Given the description of an element on the screen output the (x, y) to click on. 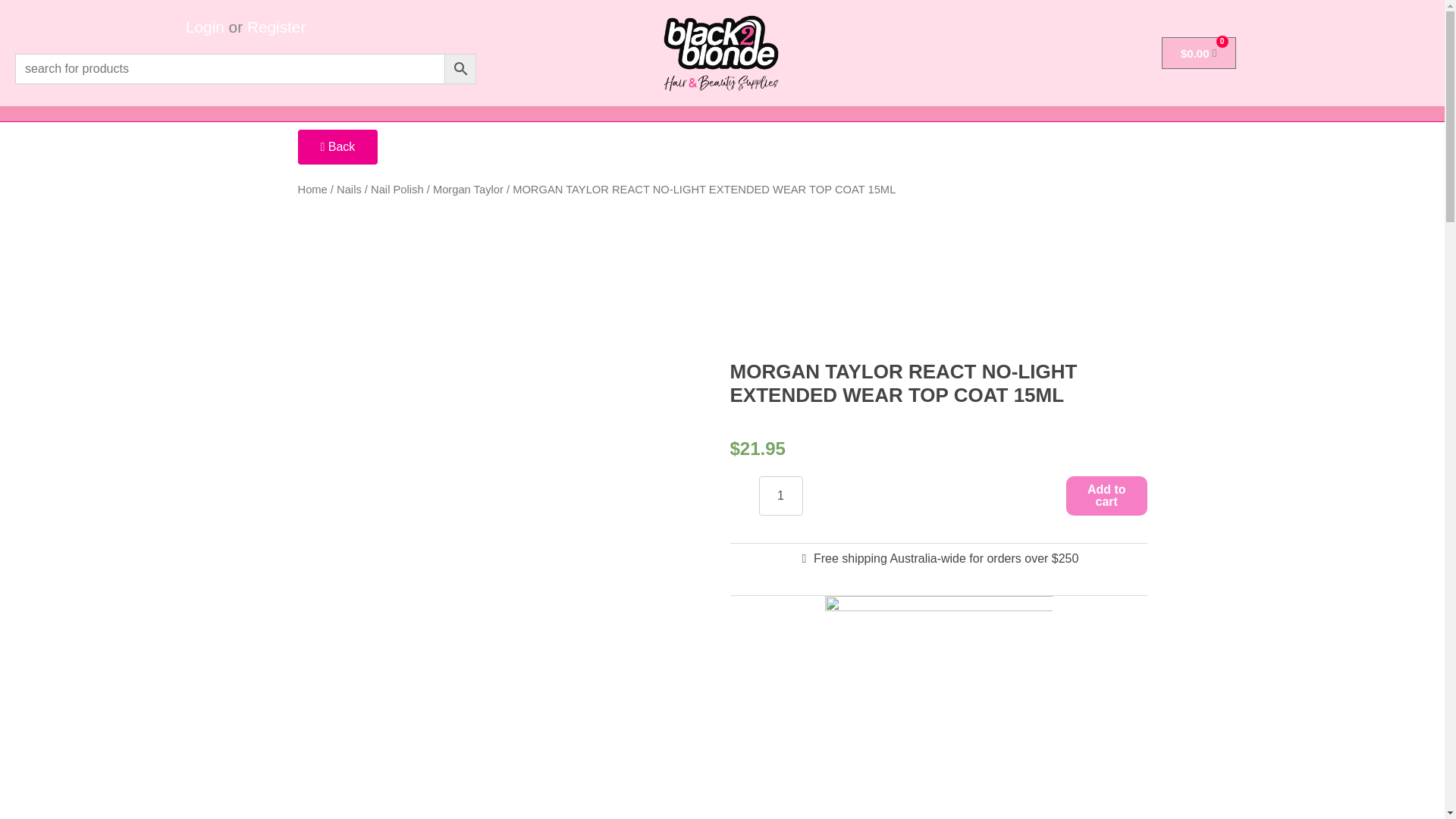
1 (780, 495)
Register (276, 27)
Login (205, 27)
